Given the description of an element on the screen output the (x, y) to click on. 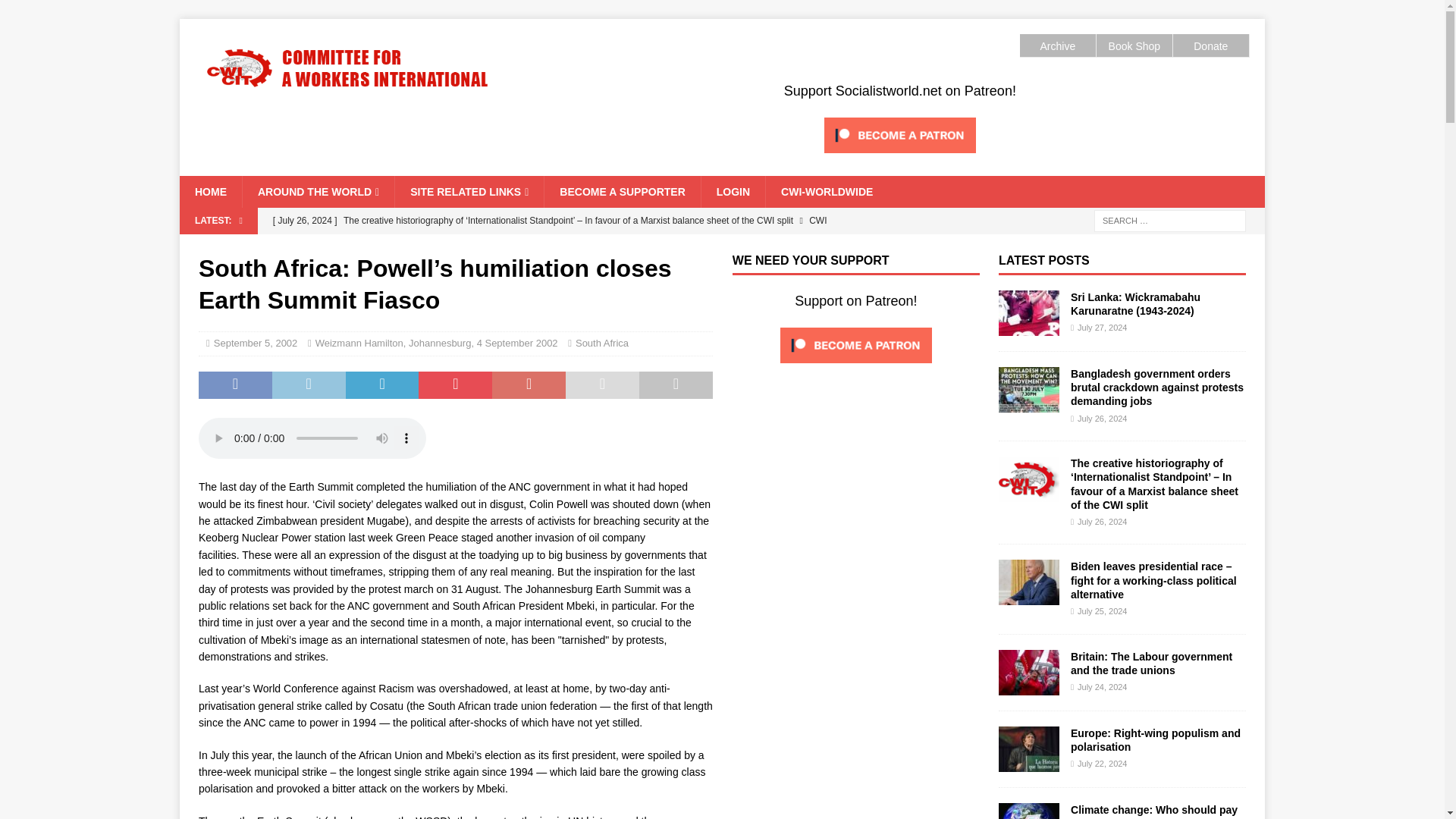
Archive (1057, 46)
Book Shop (1134, 46)
Donate (1210, 46)
